Given the description of an element on the screen output the (x, y) to click on. 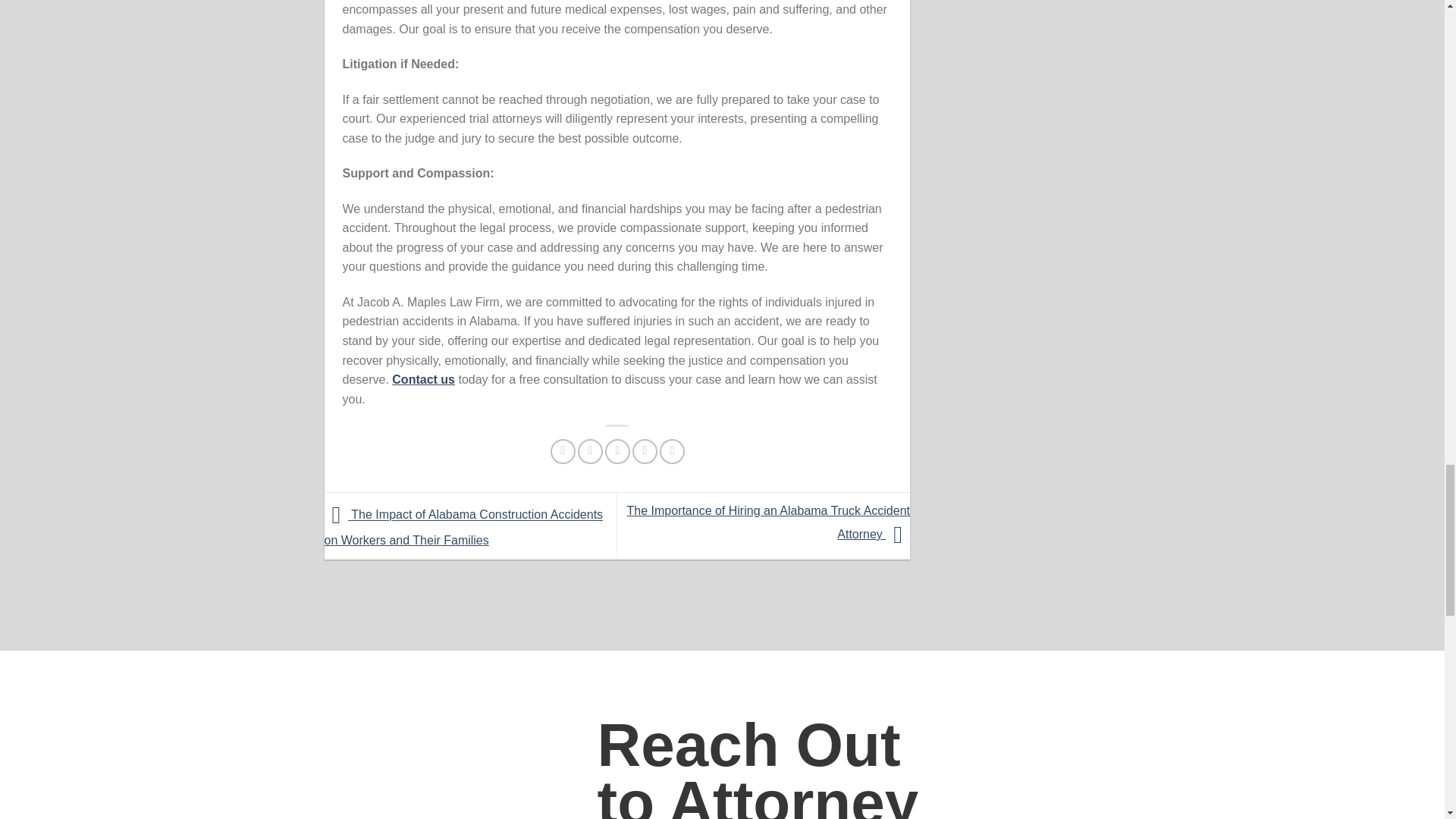
Email to a Friend (617, 451)
Share on Twitter (590, 451)
Share on Facebook (562, 451)
Share on LinkedIn (671, 451)
Pin on Pinterest (644, 451)
